Given the description of an element on the screen output the (x, y) to click on. 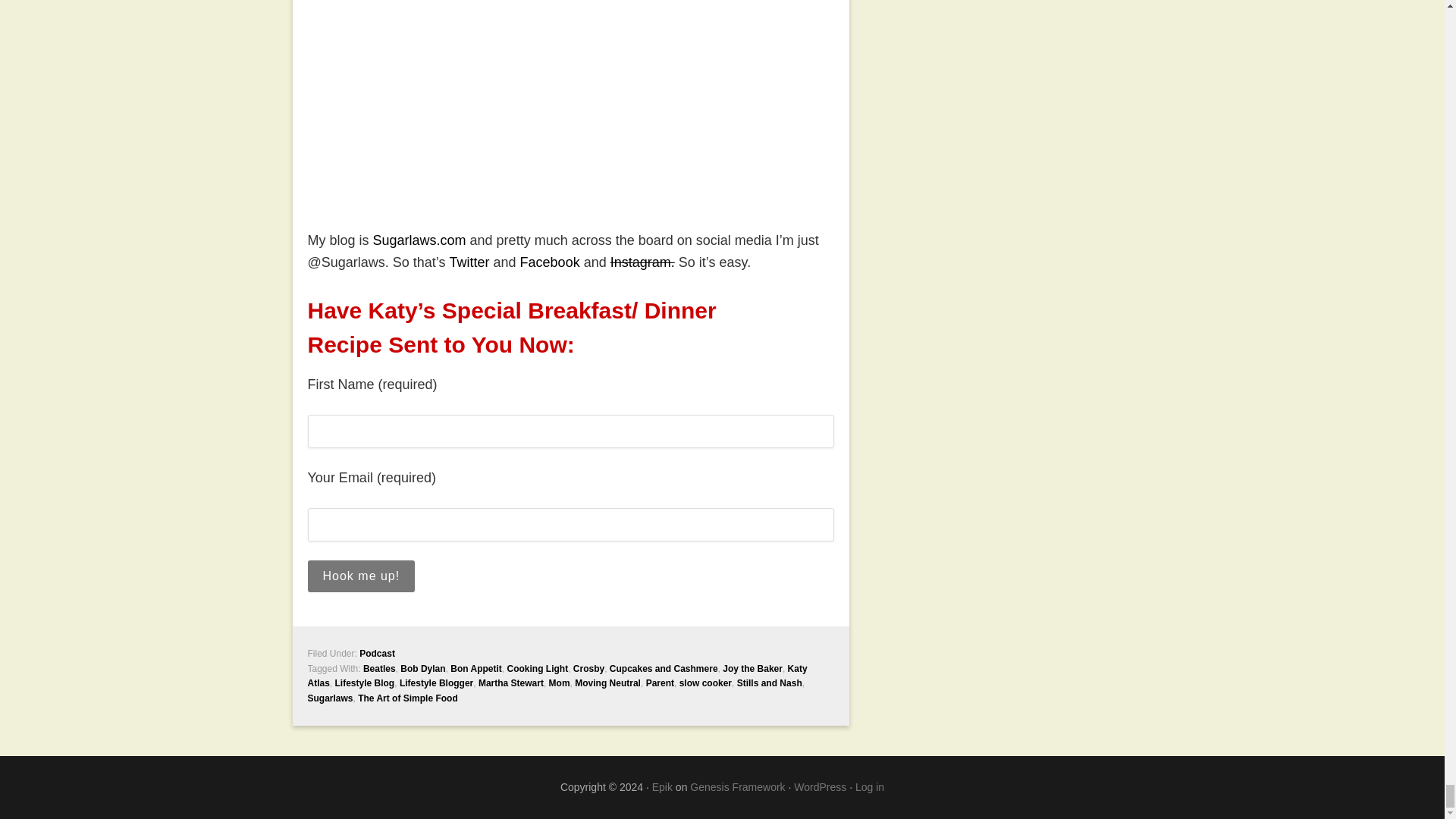
Hook me up! (360, 576)
